Given the description of an element on the screen output the (x, y) to click on. 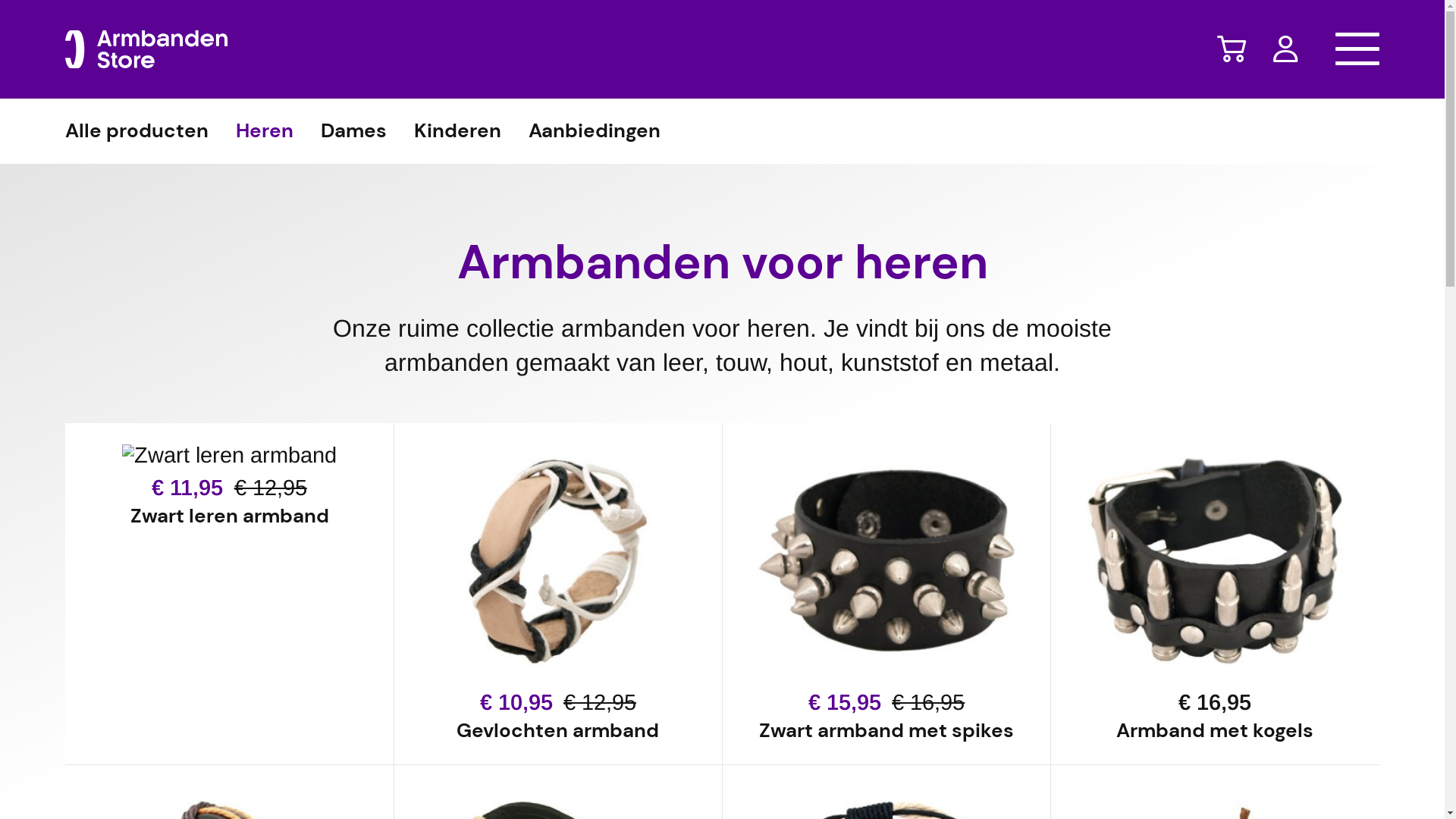
Heren Element type: text (264, 131)
Alle producten Element type: text (136, 131)
Aanbiedingen Element type: text (594, 131)
Kinderen Element type: text (457, 131)
Dames Element type: text (353, 131)
